Given the description of an element on the screen output the (x, y) to click on. 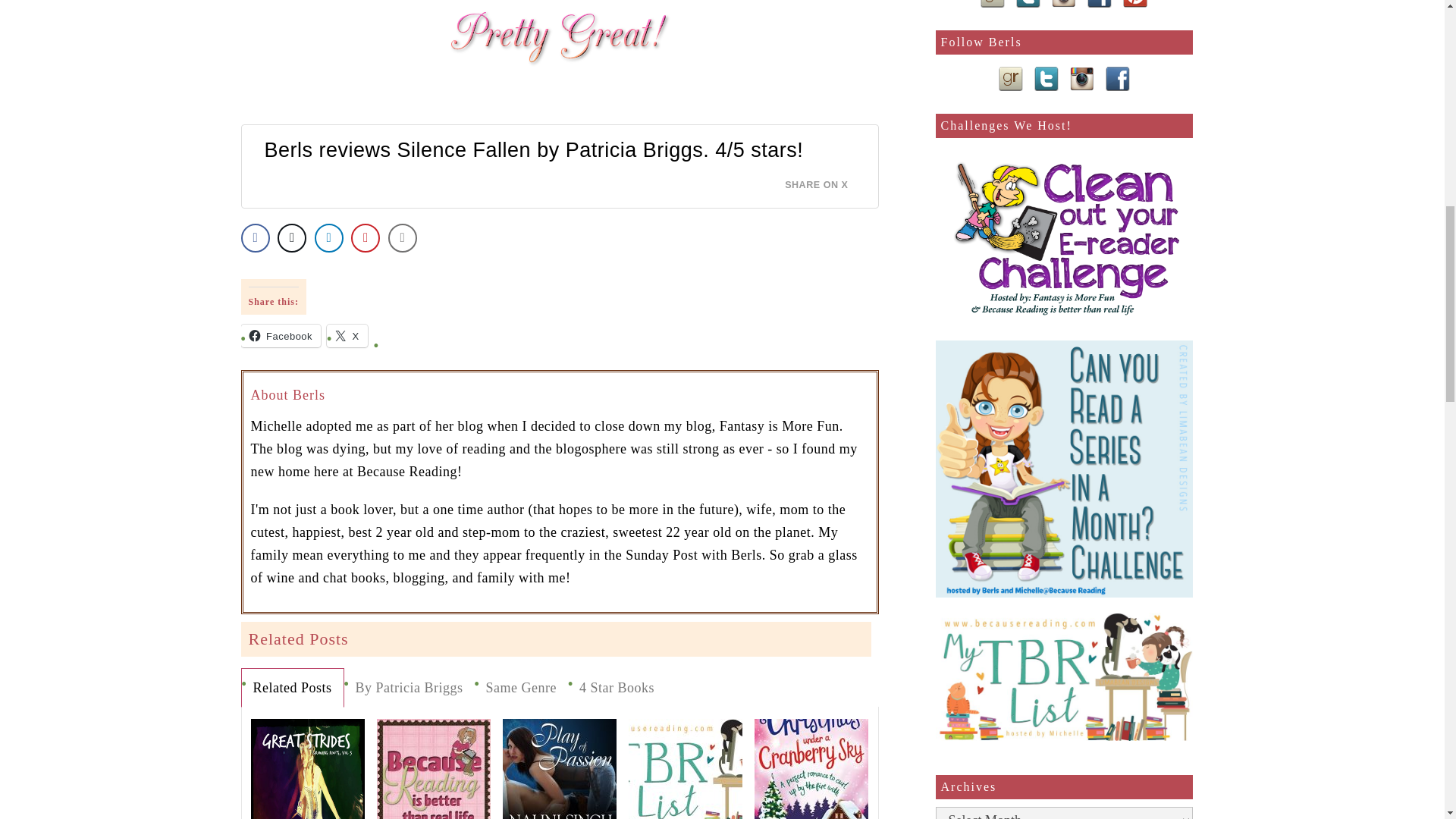
Related Posts (291, 687)
X (347, 335)
SHARE ON X (825, 180)
Click to share on Facebook (281, 335)
Same Genre (520, 687)
4 Star Books (616, 687)
Facebook (281, 335)
Click to share on X (347, 335)
By Patricia Briggs (408, 687)
